Given the description of an element on the screen output the (x, y) to click on. 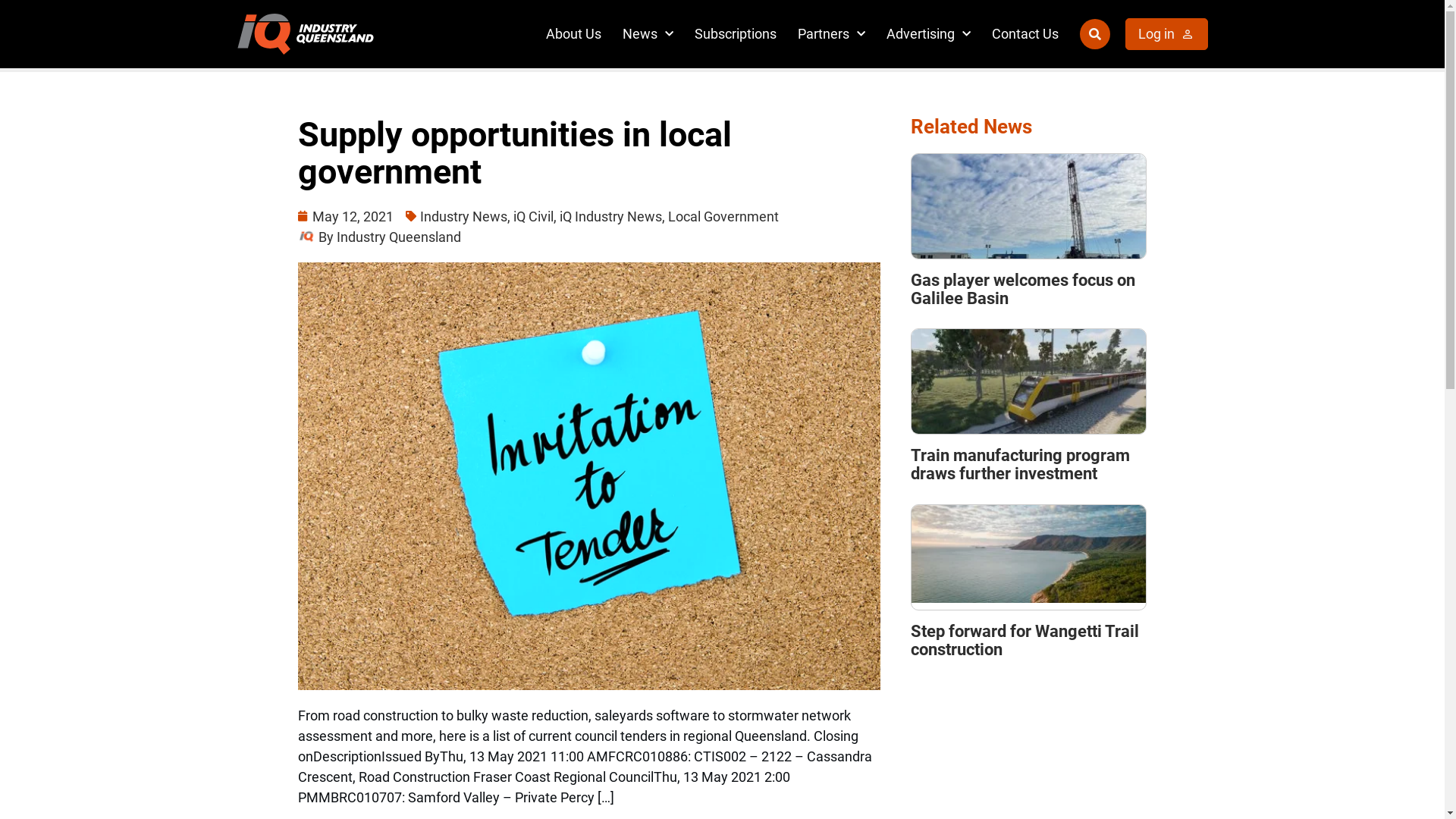
Train manufacturing program draws further investment Element type: text (1019, 464)
iQ Civil Element type: text (532, 216)
Log in Element type: text (1166, 33)
Subscriptions Element type: text (735, 33)
About Us Element type: text (573, 33)
Contact Us Element type: text (1024, 33)
Industry News Element type: text (463, 216)
Gas player welcomes focus on Galilee Basin Element type: text (1022, 288)
Local Government Element type: text (722, 216)
News Element type: text (647, 33)
Partners Element type: text (831, 33)
Step forward for Wangetti Trail construction Element type: text (1024, 639)
Advertising Element type: text (928, 33)
iQ Industry News Element type: text (610, 216)
